Given the description of an element on the screen output the (x, y) to click on. 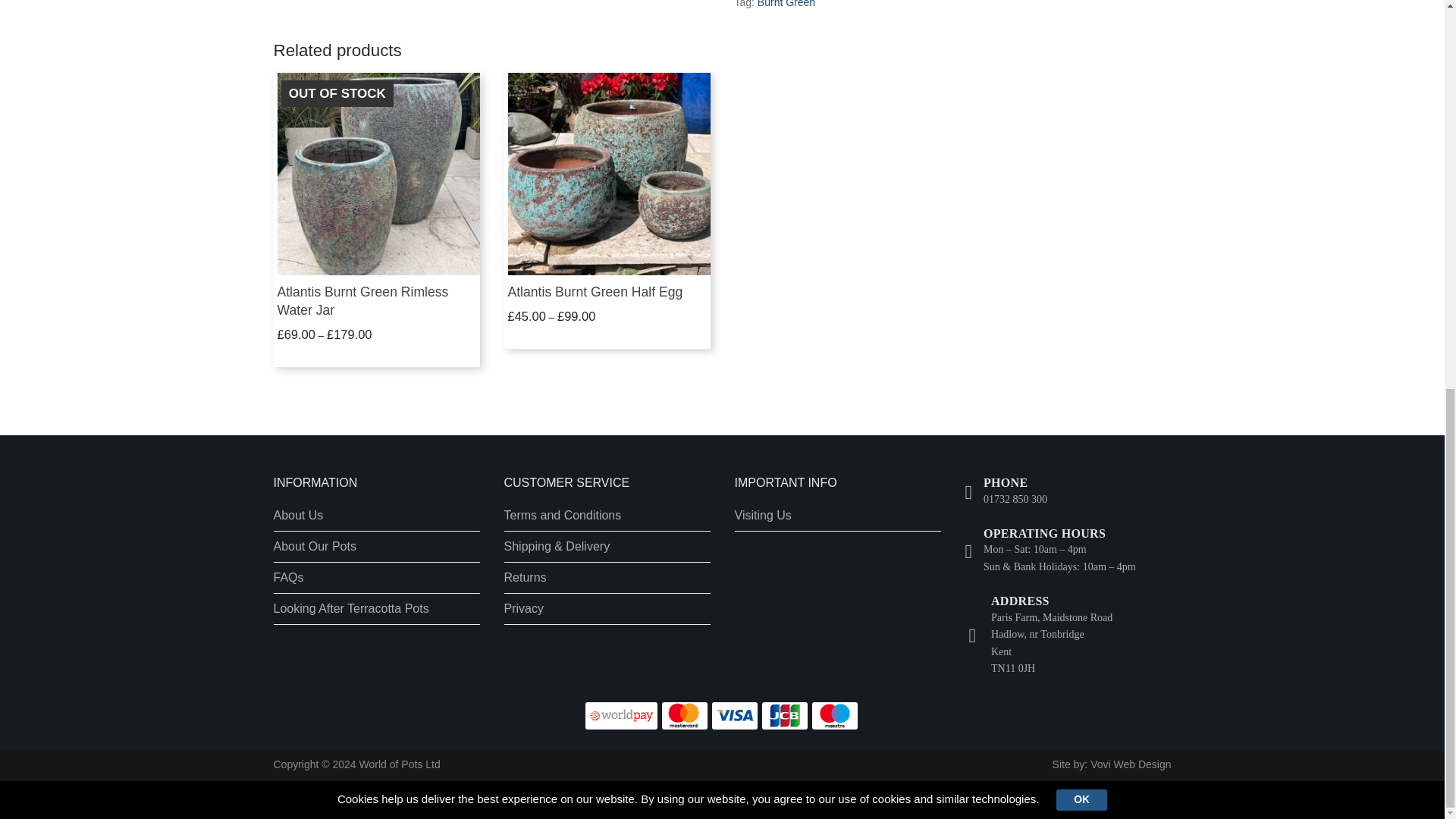
Phone (1004, 490)
Atlantis Burnt Green Half Egg (595, 291)
Atlantis Burnt Green Rimless Water Jar (363, 300)
Burnt Green (786, 4)
About Us (376, 519)
